Given the description of an element on the screen output the (x, y) to click on. 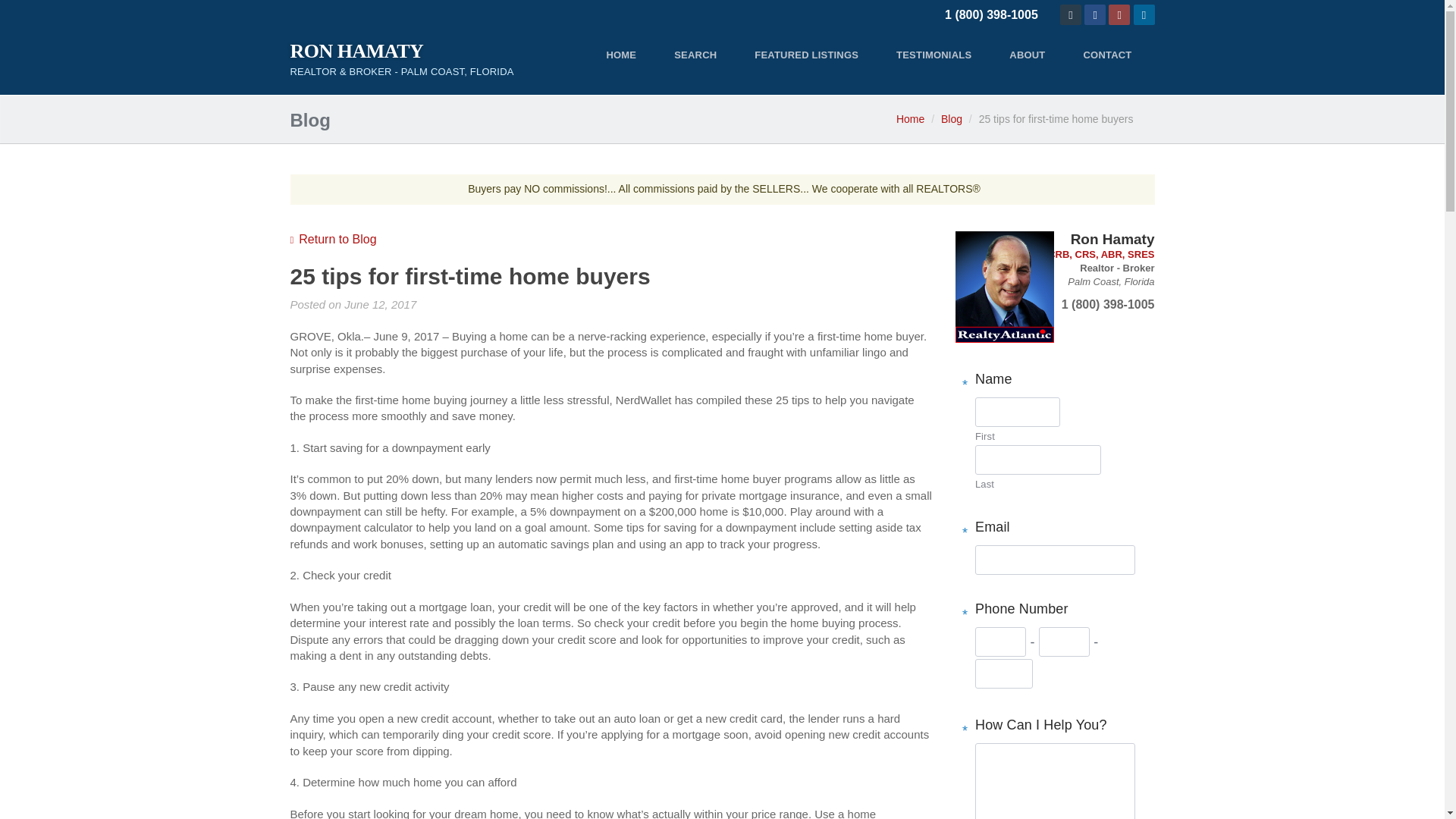
Home (910, 119)
About Ron Hamaty (1027, 55)
ABOUT (1027, 55)
HOME (620, 55)
CRB, CRS, ABR, SRES (1101, 254)
TESTIMONIALS (933, 55)
Contact Ron (1004, 286)
Palm Coast Real Estate Blog (332, 238)
SEARCH (695, 55)
CONTACT (1106, 55)
Blog (951, 119)
Contact Ron (1070, 14)
Return to Blog (332, 238)
RON HAMATY (401, 51)
Ron Hamaty (401, 61)
